Given the description of an element on the screen output the (x, y) to click on. 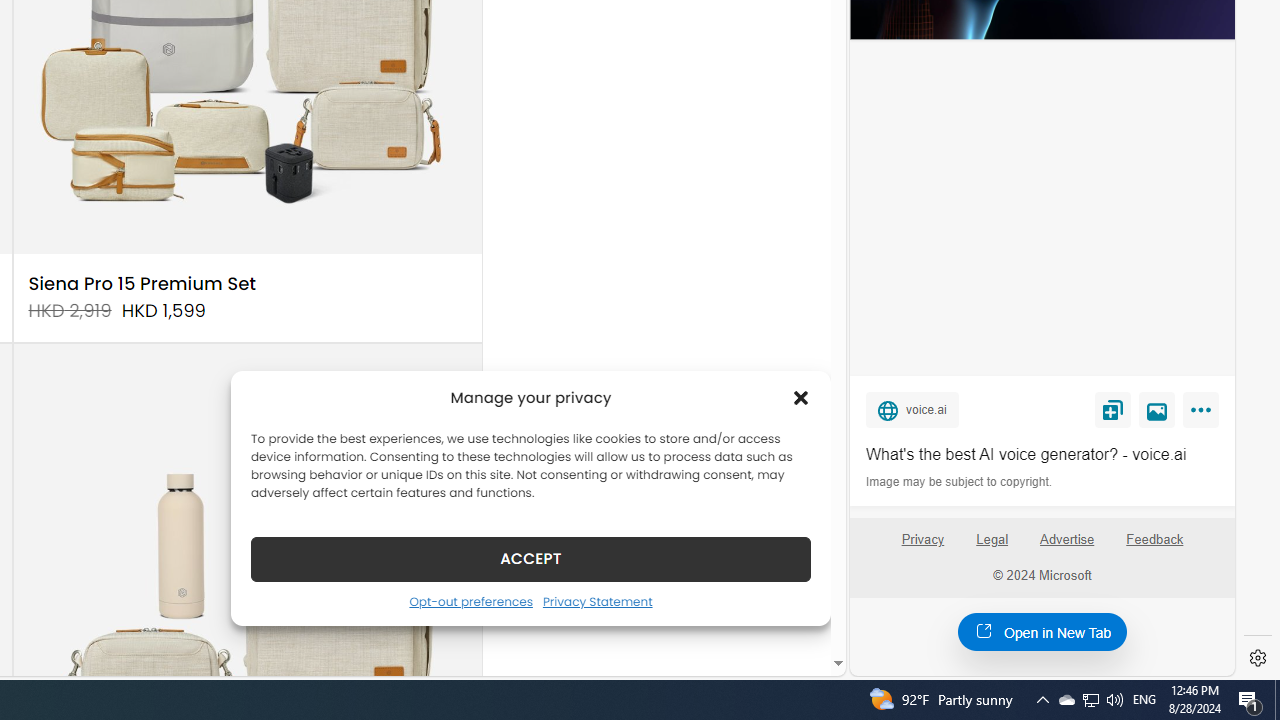
Advertise (1066, 539)
voice.ai (912, 409)
Legal (992, 547)
Settings (1258, 658)
Feedback (1154, 547)
Privacy (922, 547)
Siena Pro 15 Premium Set (142, 283)
What's the best AI voice generator? - voice.ai (1042, 454)
